Given the description of an element on the screen output the (x, y) to click on. 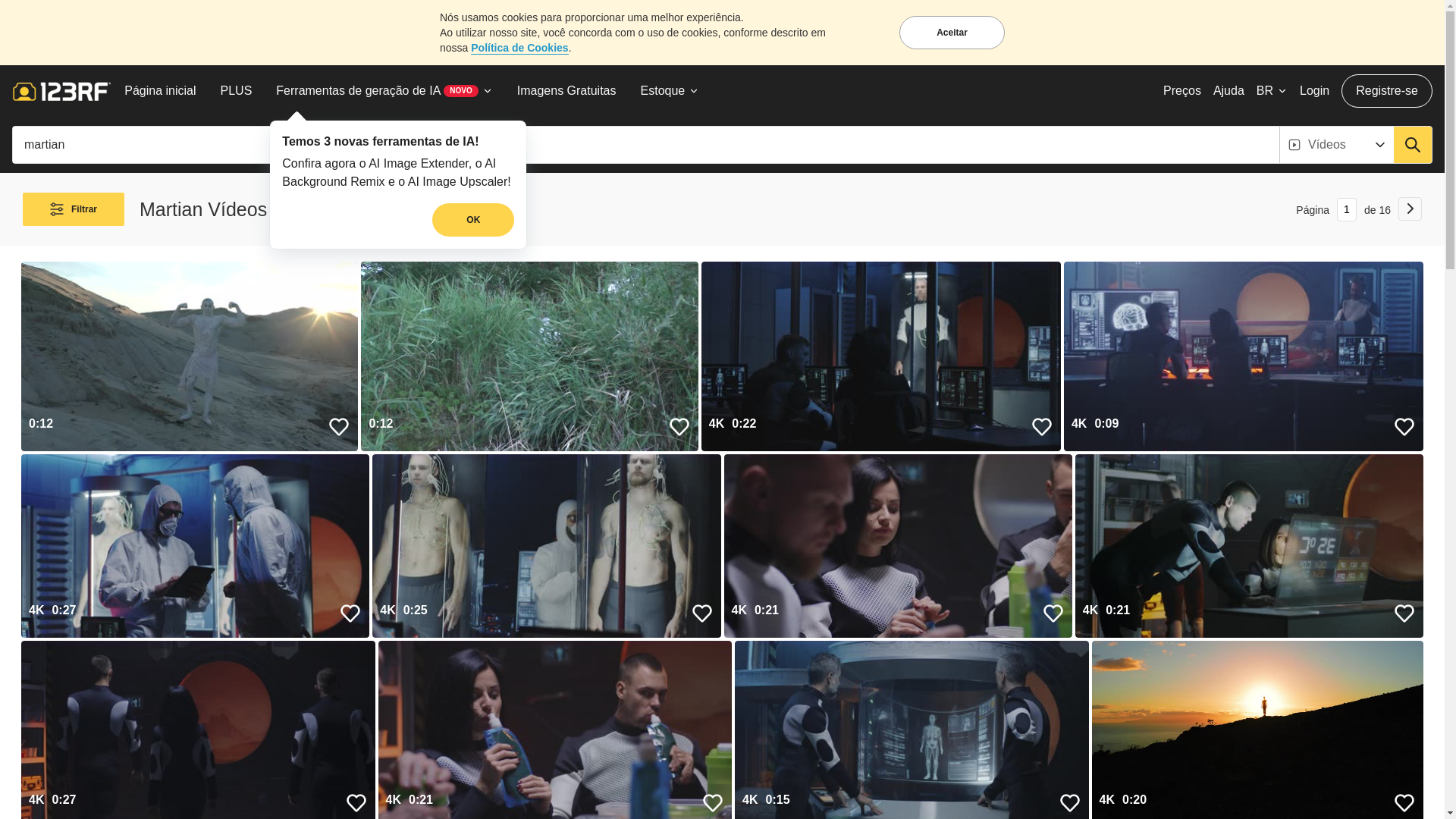
2 Element type: text (25, 653)
1 Element type: text (44, 356)
Login Element type: text (1314, 90)
PLUS Element type: text (236, 90)
Aceitar Element type: text (951, 32)
0 Element type: text (31, 615)
OK Element type: text (473, 219)
Filtrar Element type: text (73, 208)
1080 Element type: text (60, 469)
Imagens Gratuitas Element type: text (566, 90)
3 Element type: text (44, 394)
4k Element type: text (33, 507)
60+ Element type: text (69, 767)
23 Element type: text (40, 729)
720 Element type: text (33, 469)
25 Element type: text (69, 729)
Ajuda Element type: text (1228, 90)
4 Element type: text (50, 653)
2 Element type: text (86, 356)
29 Element type: text (96, 729)
3 Element type: text (37, 653)
Registre-se Element type: text (1386, 90)
60 Element type: text (40, 767)
1 Element type: text (50, 615)
